Given the description of an element on the screen output the (x, y) to click on. 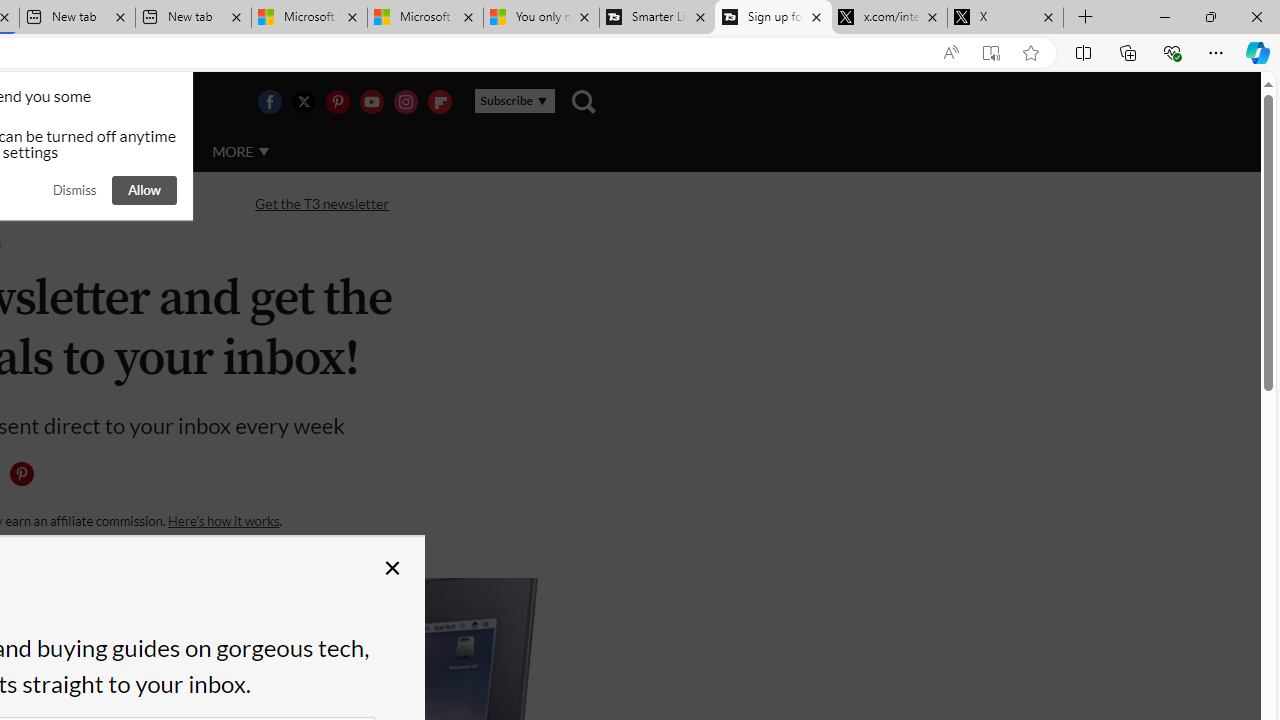
Class: social__item (25, 477)
MORE  (239, 151)
Dismiss (73, 190)
Class: icon-svg (21, 474)
Visit us on Pintrest (337, 101)
flag of UK (44, 102)
Get the T3 newsletter (322, 204)
Get the T3 newsletter (322, 202)
Visit us on Flipboard (439, 101)
